Given the description of an element on the screen output the (x, y) to click on. 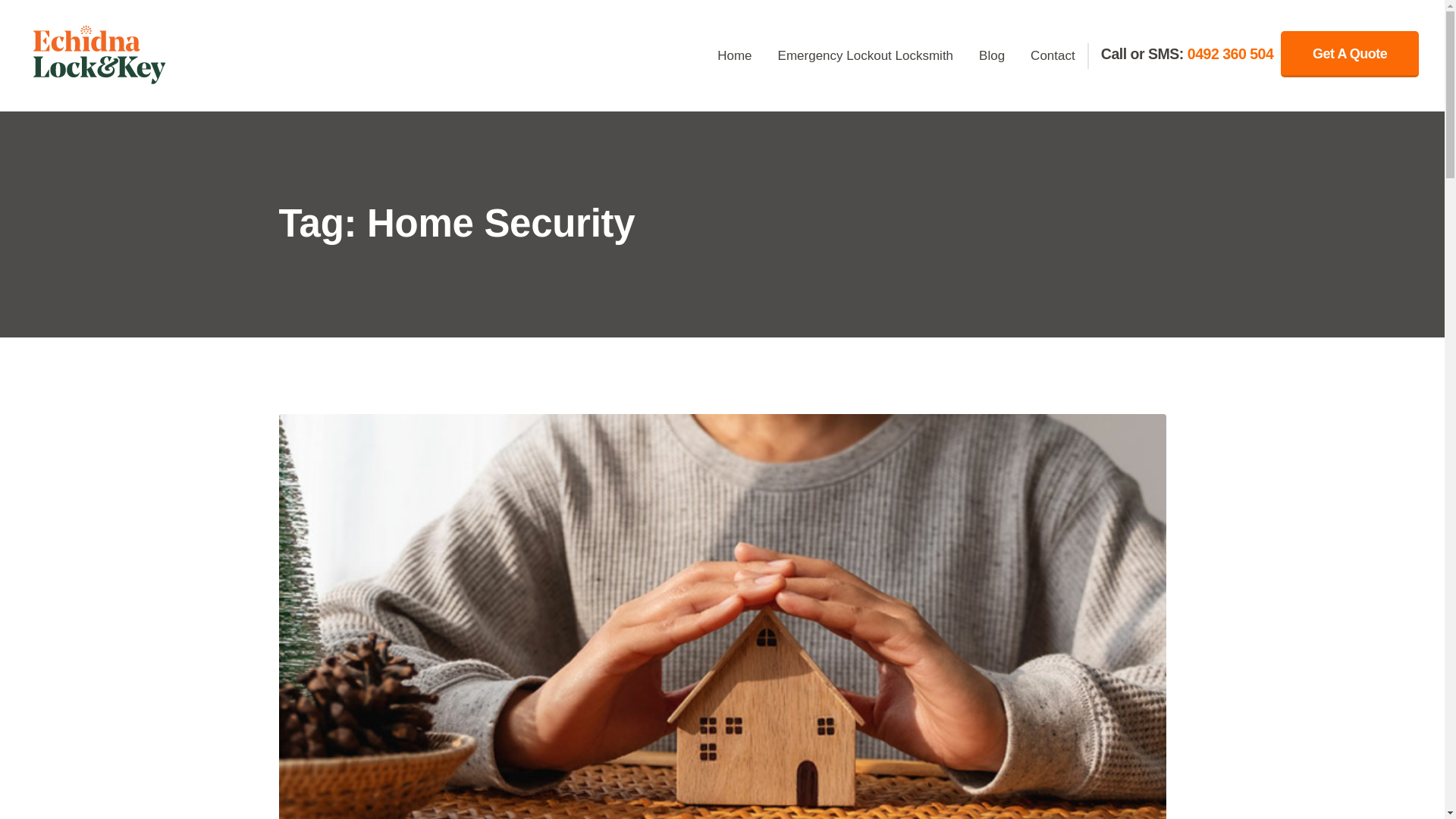
Contact (1052, 57)
Get A Quote (1349, 53)
Blog (991, 57)
0492 360 504 (1230, 53)
Emergency Lockout Locksmith (865, 57)
Home (734, 57)
